Given the description of an element on the screen output the (x, y) to click on. 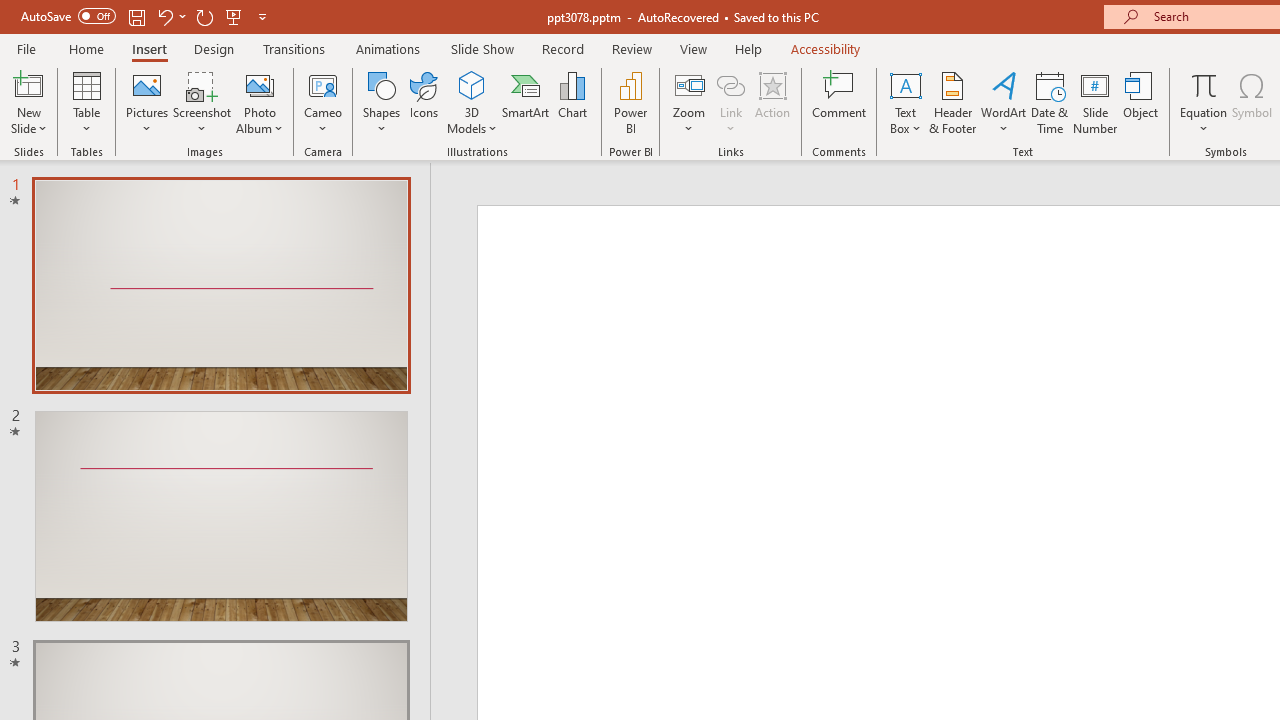
Link (731, 102)
Draw Horizontal Text Box (905, 84)
Table (86, 102)
